Given the description of an element on the screen output the (x, y) to click on. 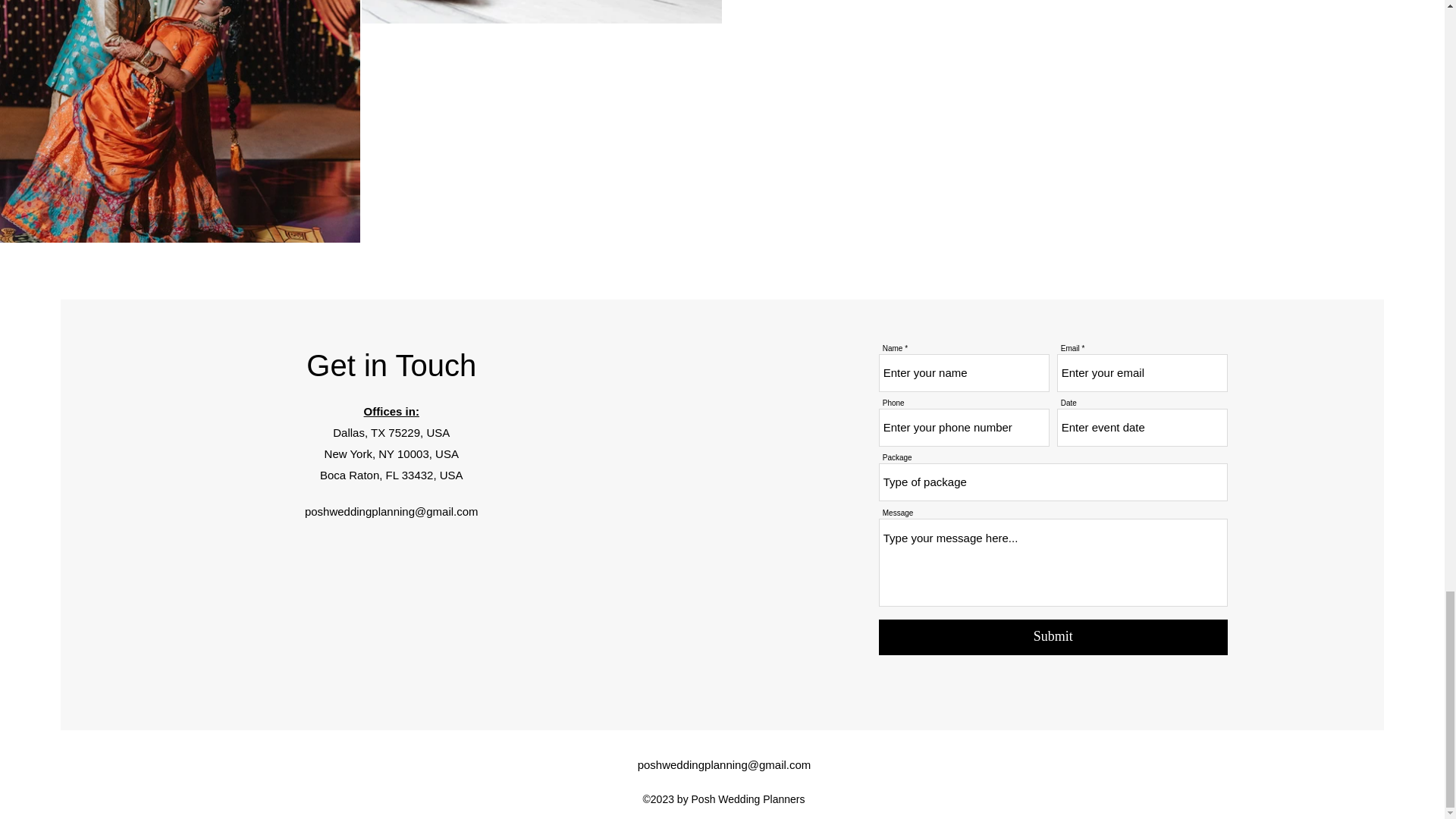
Submit (1053, 637)
